Given the description of an element on the screen output the (x, y) to click on. 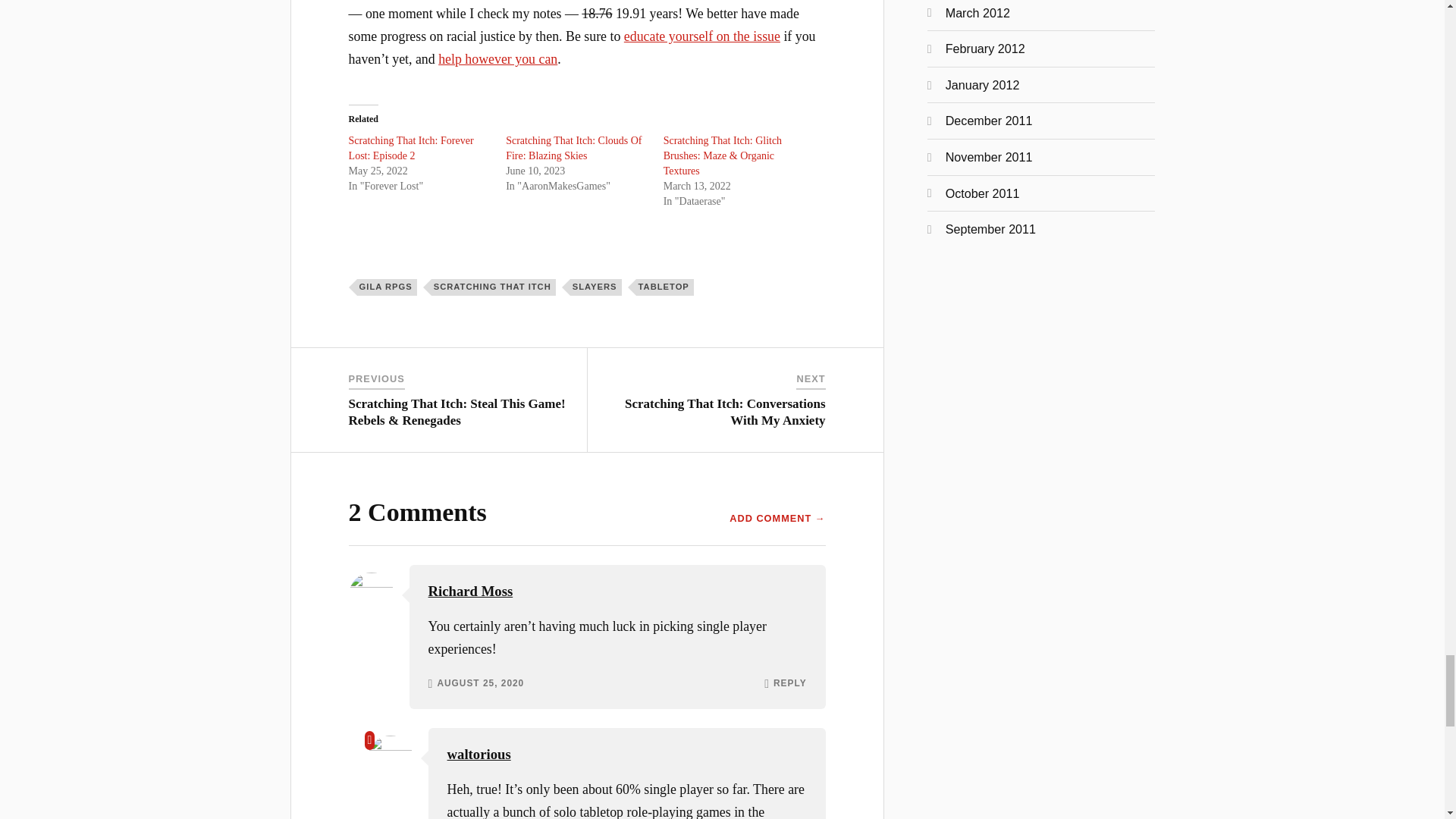
Scratching That Itch: Clouds Of Fire: Blazing Skies (573, 148)
Scratching That Itch: Forever Lost: Episode 2 (411, 148)
